Given the description of an element on the screen output the (x, y) to click on. 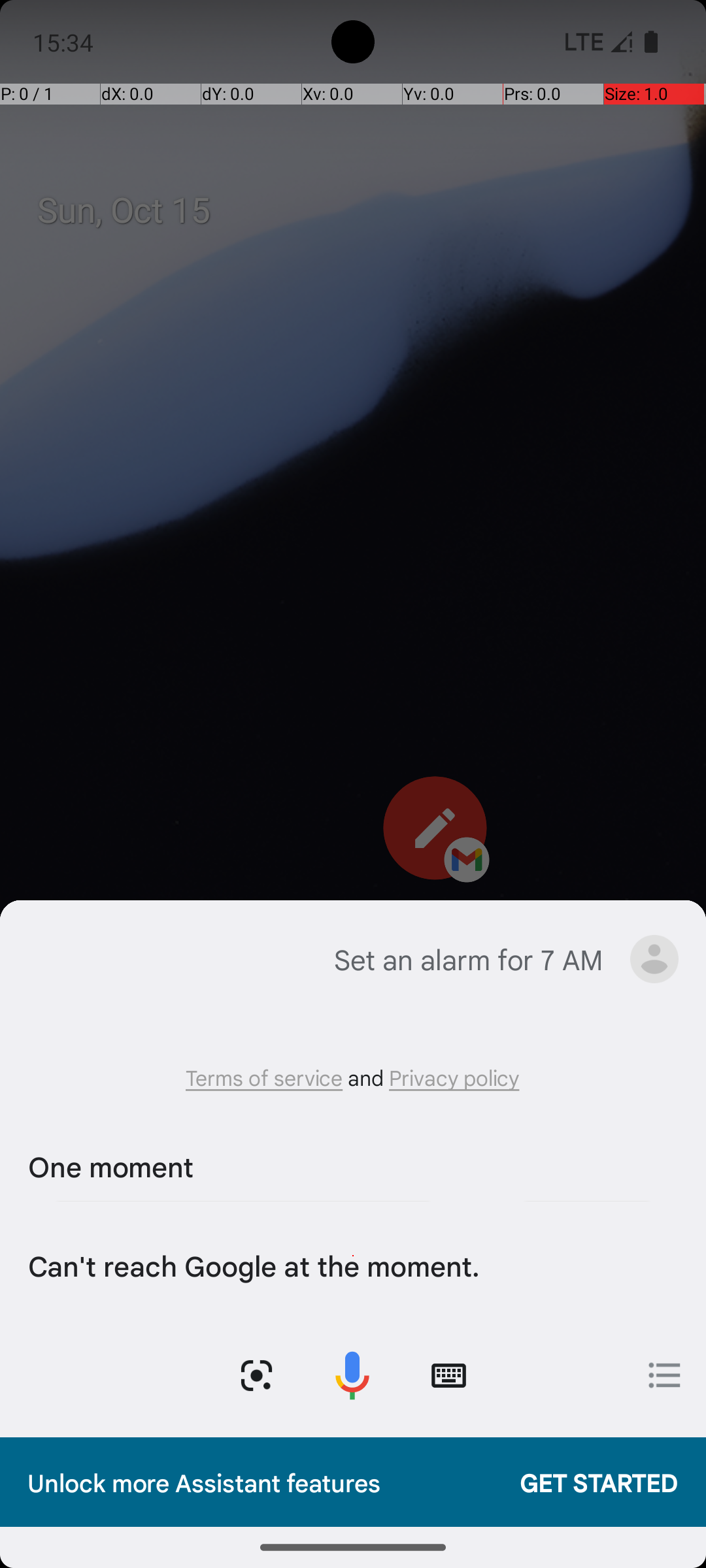
Tap to dismiss Assistant Element type: android.view.ViewGroup (353, 804)
Google Assistant widget. Element type: android.support.v7.widget.RecyclerView (353, 1168)
Camera search Element type: android.widget.ImageView (256, 1375)
Voice search button, tap to speak Element type: android.view.View (351, 1375)
Type mode Element type: android.widget.ImageView (448, 1375)
Unlock more Assistant features Element type: android.widget.TextView (259, 1481)
GET STARTED Element type: android.widget.TextView (585, 1481)
Open explore page Element type: android.widget.ImageView (664, 1375)
Google assistant Element type: android.widget.ImageView (48, 958)
Set an alarm for 7 AM Element type: com.google.android.apps.gsa.searchplate.widget.StreamingTextView (467, 958)
Google Assistant menu. Element type: android.widget.ImageView (654, 958)
Terms of service and Privacy policy Element type: android.widget.TextView (352, 1076)
One moment Element type: android.widget.TextView (349, 1165)
Can't reach Google at the moment. Element type: android.widget.TextView (349, 1264)
